Given the description of an element on the screen output the (x, y) to click on. 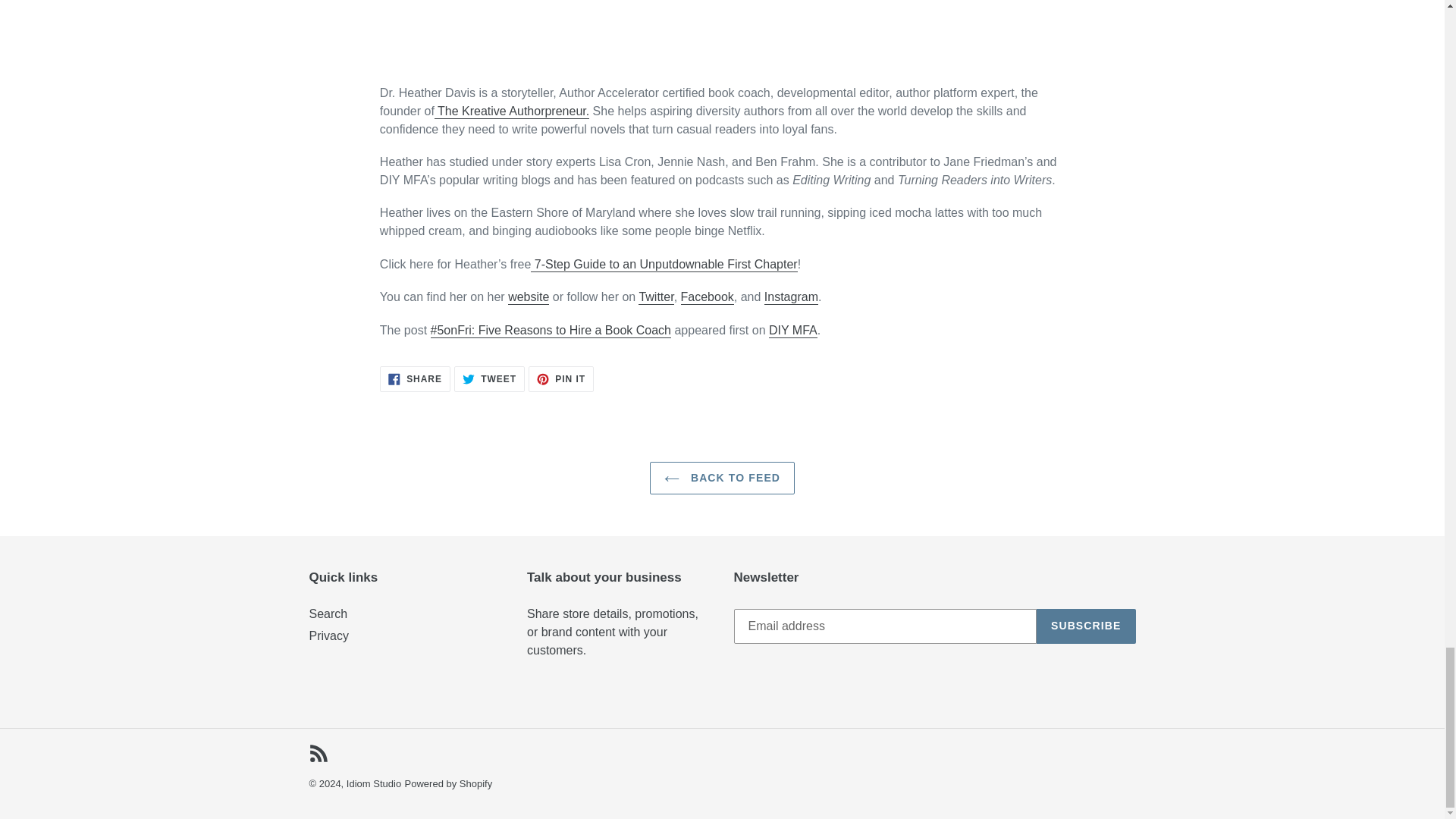
Twitter (655, 297)
Instagram (791, 297)
DIY MFA (792, 330)
BACK TO FEED (721, 477)
Idiom Studio (373, 783)
7-Step Guide to an Unputdownable First Chapter (663, 264)
website (528, 297)
Privacy (328, 635)
Powered by Shopify (561, 379)
Facebook (489, 379)
SUBSCRIBE (448, 783)
Search (707, 297)
